Given the description of an element on the screen output the (x, y) to click on. 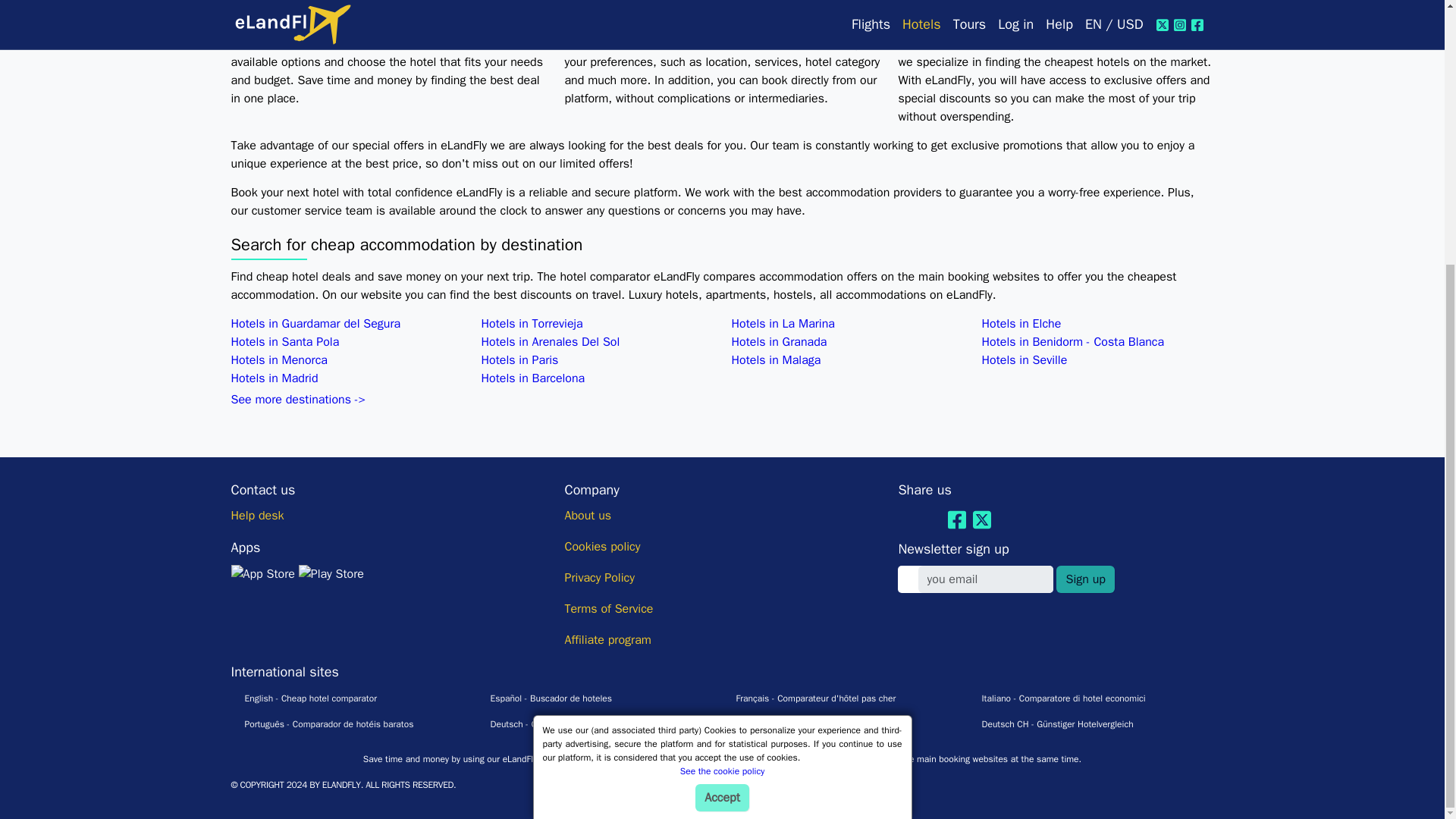
Hotels in Arenales Del Sol (550, 341)
Hotels in Madrid (273, 378)
Hotels in Granada (778, 341)
About us (587, 515)
Hotels in La Marina (782, 323)
Hotels in Torrevieja (531, 323)
Hotels in Santa Pola (284, 341)
Privacy Policy (598, 577)
Hotels in Malaga (775, 359)
Terms of Service (608, 608)
